Given the description of an element on the screen output the (x, y) to click on. 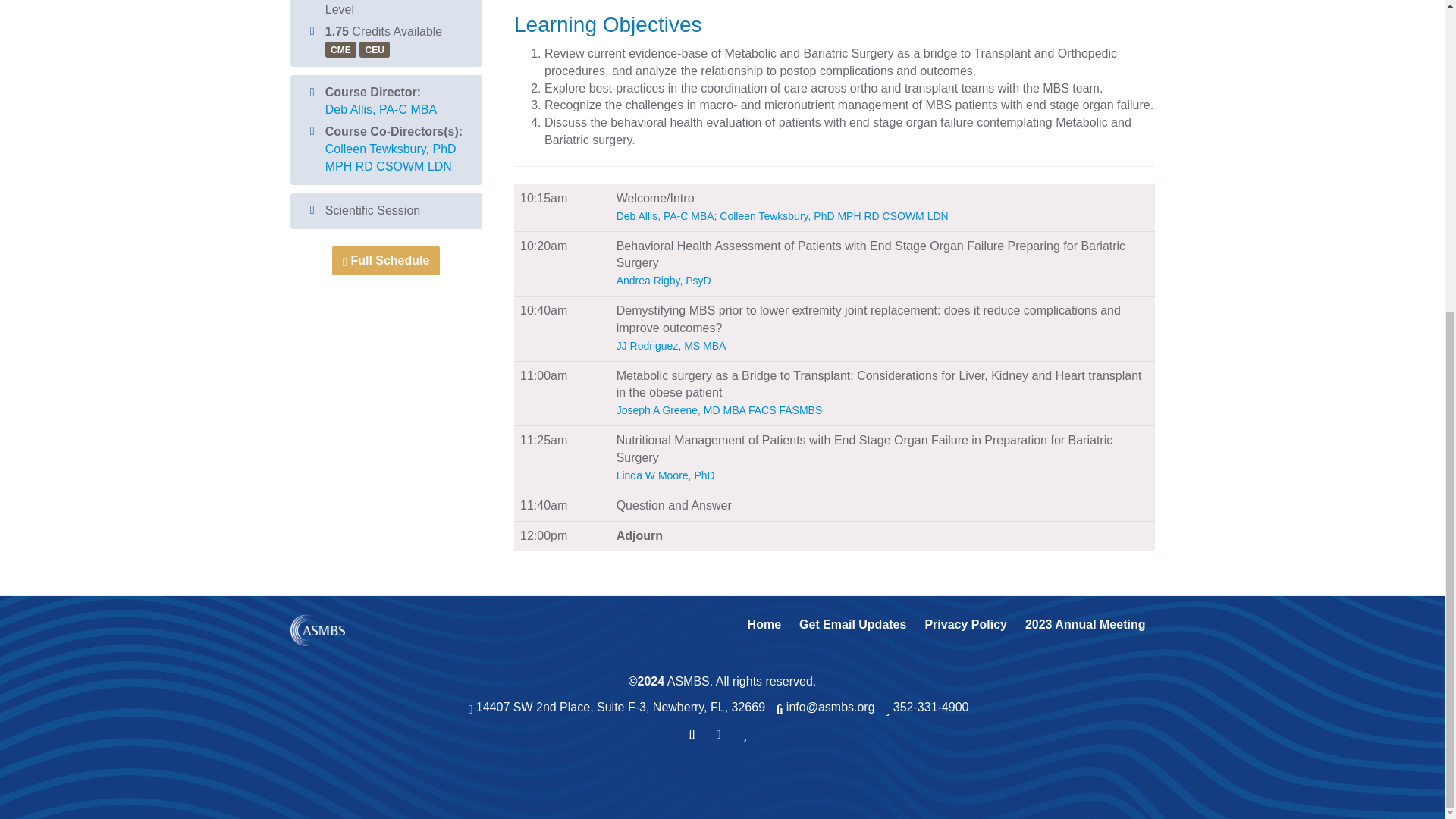
Full Schedule (385, 261)
Colleen Tewksbury, PhD MPH RD CSOWM LDN (390, 157)
Deb Allis, PA-C MBA (380, 109)
